Given the description of an element on the screen output the (x, y) to click on. 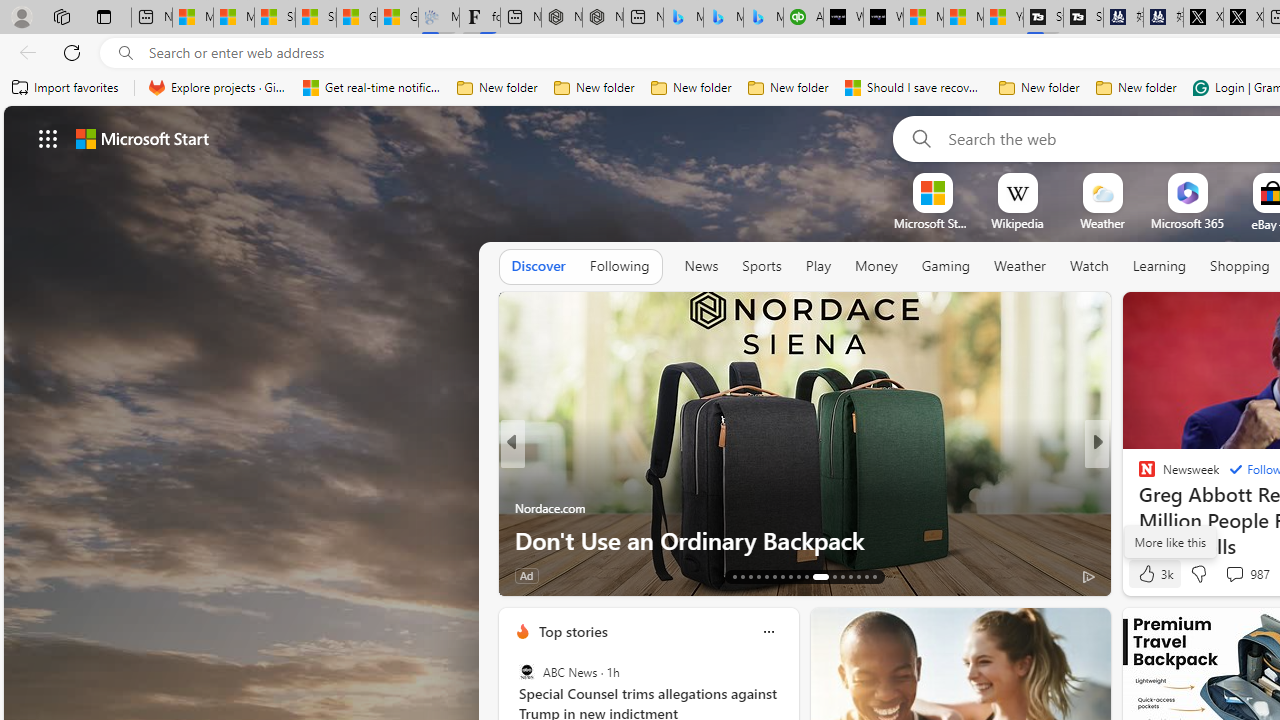
The Weather Channel (1138, 475)
45 Like (1149, 574)
Watch (1089, 267)
Money (876, 267)
View comments 1 Comment (613, 575)
Wikipedia (1017, 223)
Top stories (572, 631)
View comments 987 Comment (1234, 573)
AutomationID: tab-28 (865, 576)
You're following Newsweek (445, 579)
FOX News (1138, 475)
View comments 18 Comment (11, 575)
